Given the description of an element on the screen output the (x, y) to click on. 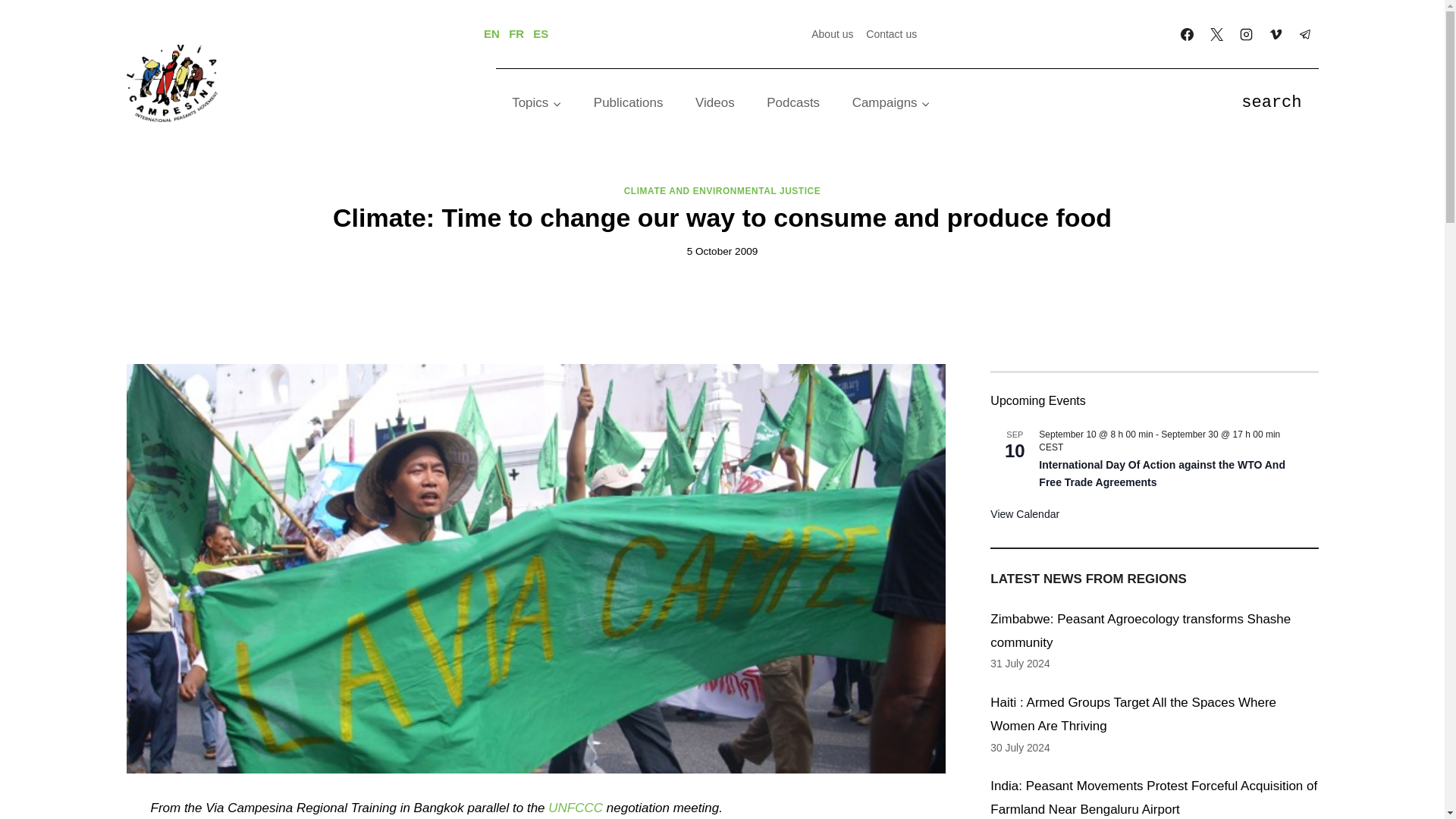
Campaigns (890, 103)
Topics (537, 103)
FR (516, 33)
search (1270, 102)
ES (540, 33)
EN (491, 33)
Publications (628, 103)
CLIMATE AND ENVIRONMENTAL JUSTICE (722, 190)
View more events. (1024, 513)
About us (832, 33)
